Given the description of an element on the screen output the (x, y) to click on. 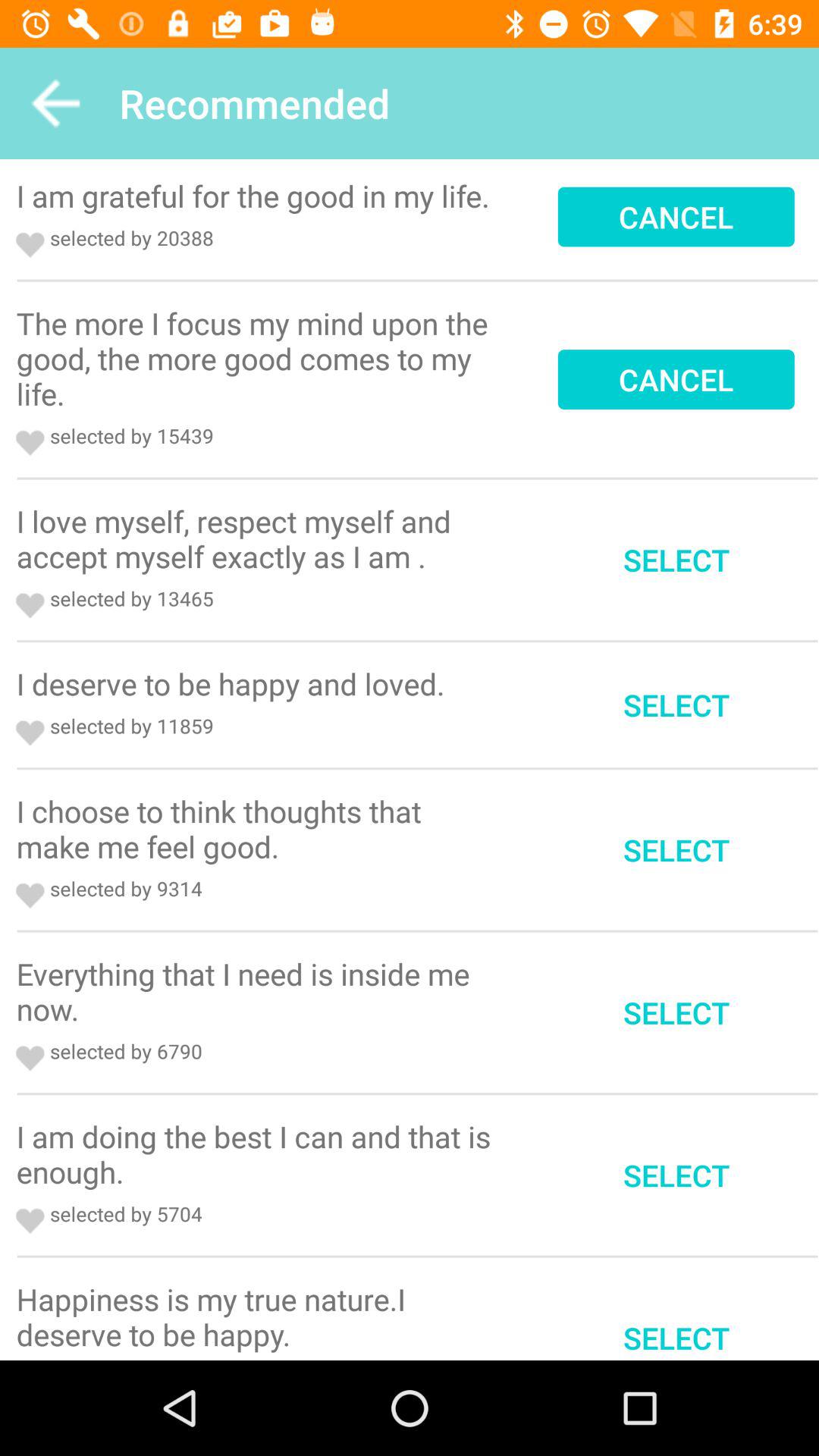
launch the happiness is my item (258, 1316)
